Given the description of an element on the screen output the (x, y) to click on. 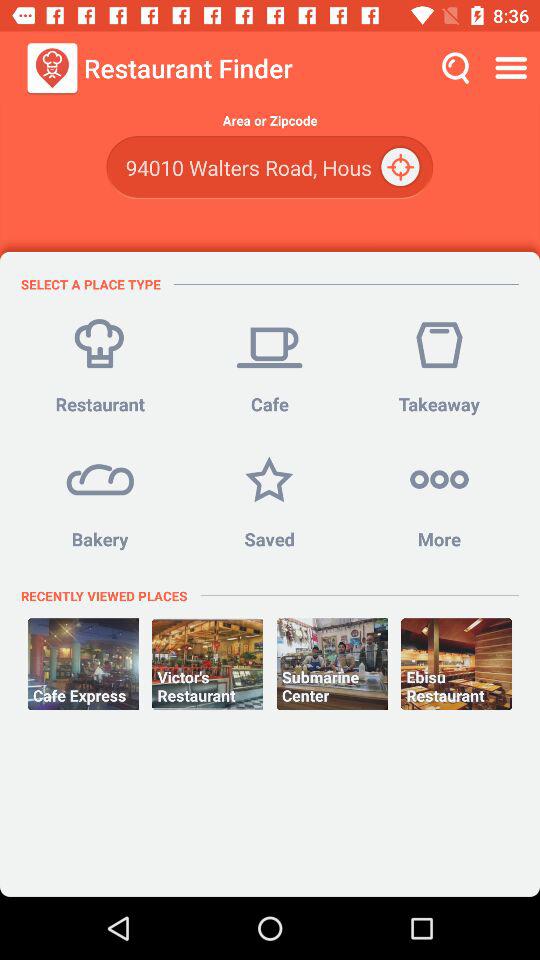
select the icon below area or zipcode (401, 167)
